Given the description of an element on the screen output the (x, y) to click on. 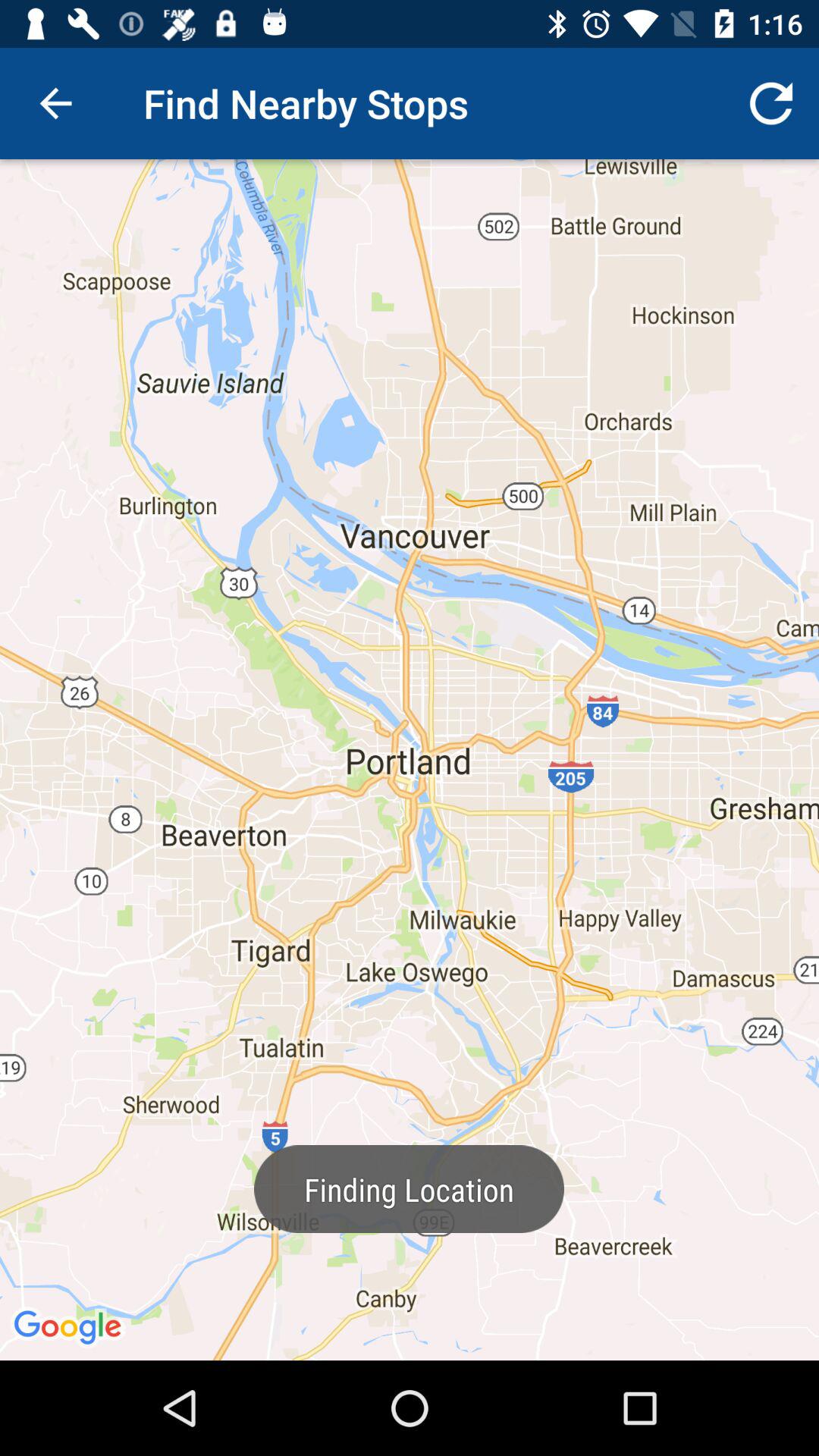
launch icon to the left of the find nearby stops item (55, 103)
